Given the description of an element on the screen output the (x, y) to click on. 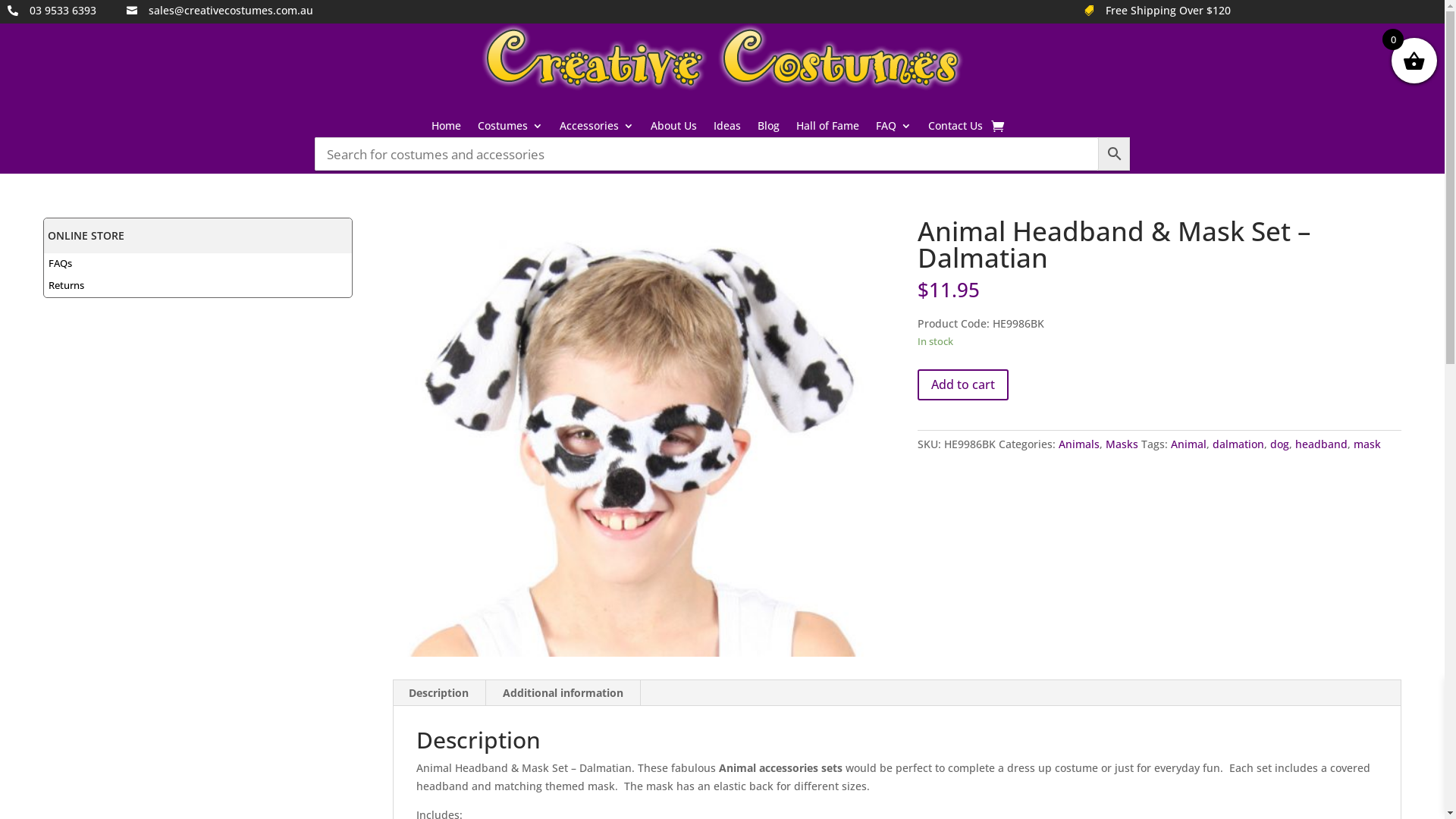
Description Element type: text (438, 693)
03 9533 6393 Element type: text (62, 10)
Masks Element type: text (1121, 443)
Additional information Element type: text (563, 693)
Add to cart Element type: text (962, 384)
mask Element type: text (1366, 443)
Animal Headband & Mask Set - Dalmatian Element type: hover (634, 436)
dog Element type: text (1279, 443)
FAQ Element type: text (893, 128)
headband Element type: text (1321, 443)
Returns Element type: text (65, 284)
Costumes Element type: text (509, 128)
Contact Us Element type: text (955, 128)
header-logo-desktop Element type: hover (722, 57)
Blog Element type: text (768, 128)
Ideas Element type: text (726, 128)
Home Element type: text (446, 128)
Animals Element type: text (1078, 443)
About Us Element type: text (673, 128)
Accessories Element type: text (596, 128)
Hall of Fame Element type: text (827, 128)
sales@creativecostumes.com.au Element type: text (230, 10)
dalmation Element type: text (1238, 443)
FAQs Element type: text (59, 262)
Animal Element type: text (1188, 443)
